Given the description of an element on the screen output the (x, y) to click on. 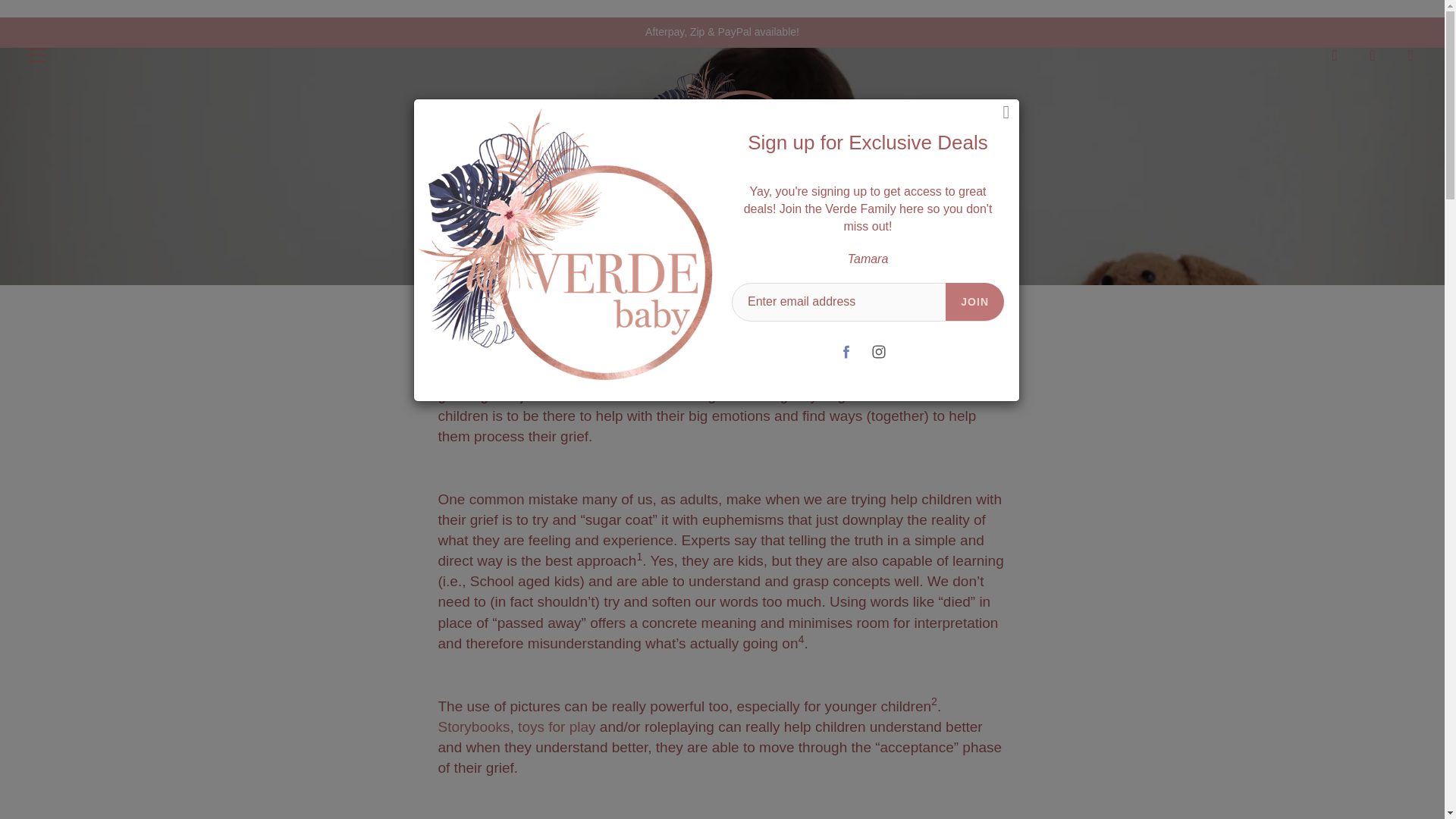
Instagram (879, 351)
Press space bar to toggle menu (36, 55)
My account (1372, 55)
Facebook (845, 351)
Search (1334, 55)
Supporting Grief in Children (553, 726)
You have 0 items in your cart (1410, 55)
Home (628, 238)
